Given the description of an element on the screen output the (x, y) to click on. 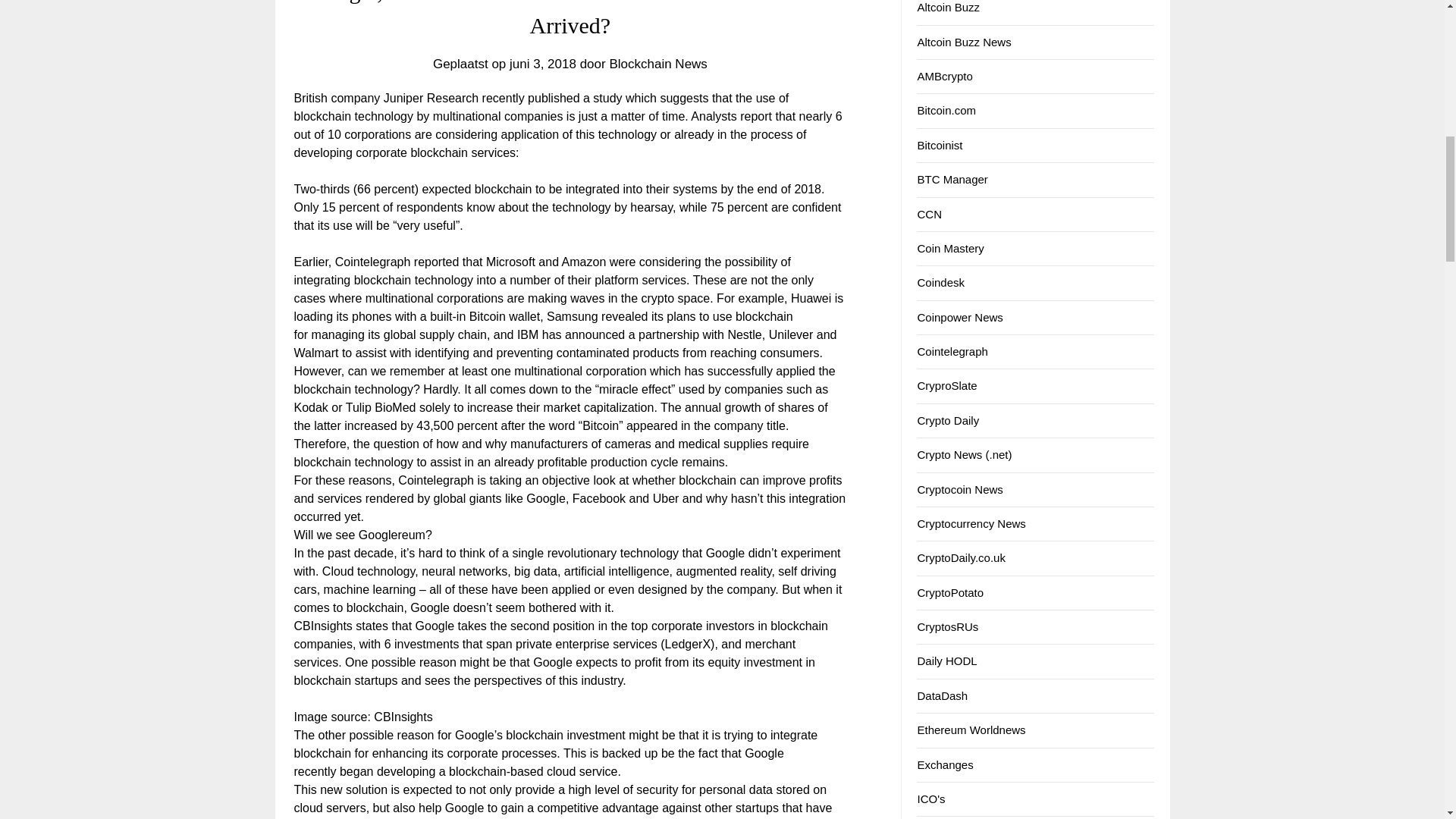
Blockchain News (657, 63)
CryptoPotato (950, 592)
CryptoDaily.co.uk (960, 557)
Cryptocoin News (960, 489)
Daily HODL (946, 660)
juni 3, 2018 (542, 63)
Cryptocurrency News (971, 522)
Coinpower News (960, 317)
Bitcoinist (939, 144)
Coindesk (940, 282)
